Given the description of an element on the screen output the (x, y) to click on. 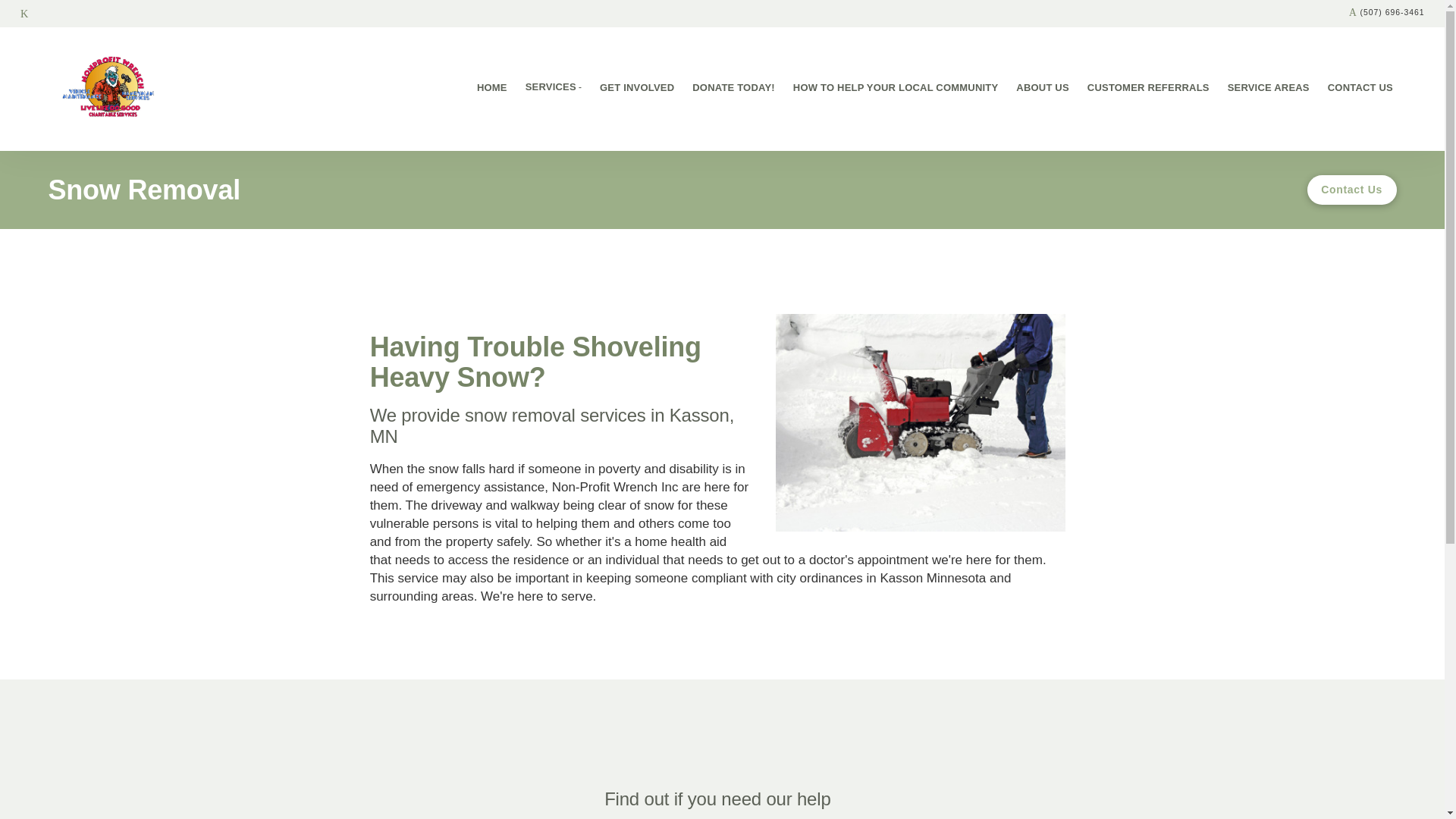
GET INVOLVED (636, 89)
SERVICES (552, 88)
ABOUT US (1042, 89)
DONATE TODAY! (733, 89)
Non-Profit Wrench (111, 89)
HOME (491, 89)
CUSTOMER REFERRALS (1148, 89)
CONTACT US (1360, 89)
Facebook (23, 13)
SERVICE AREAS (1267, 89)
